Given the description of an element on the screen output the (x, y) to click on. 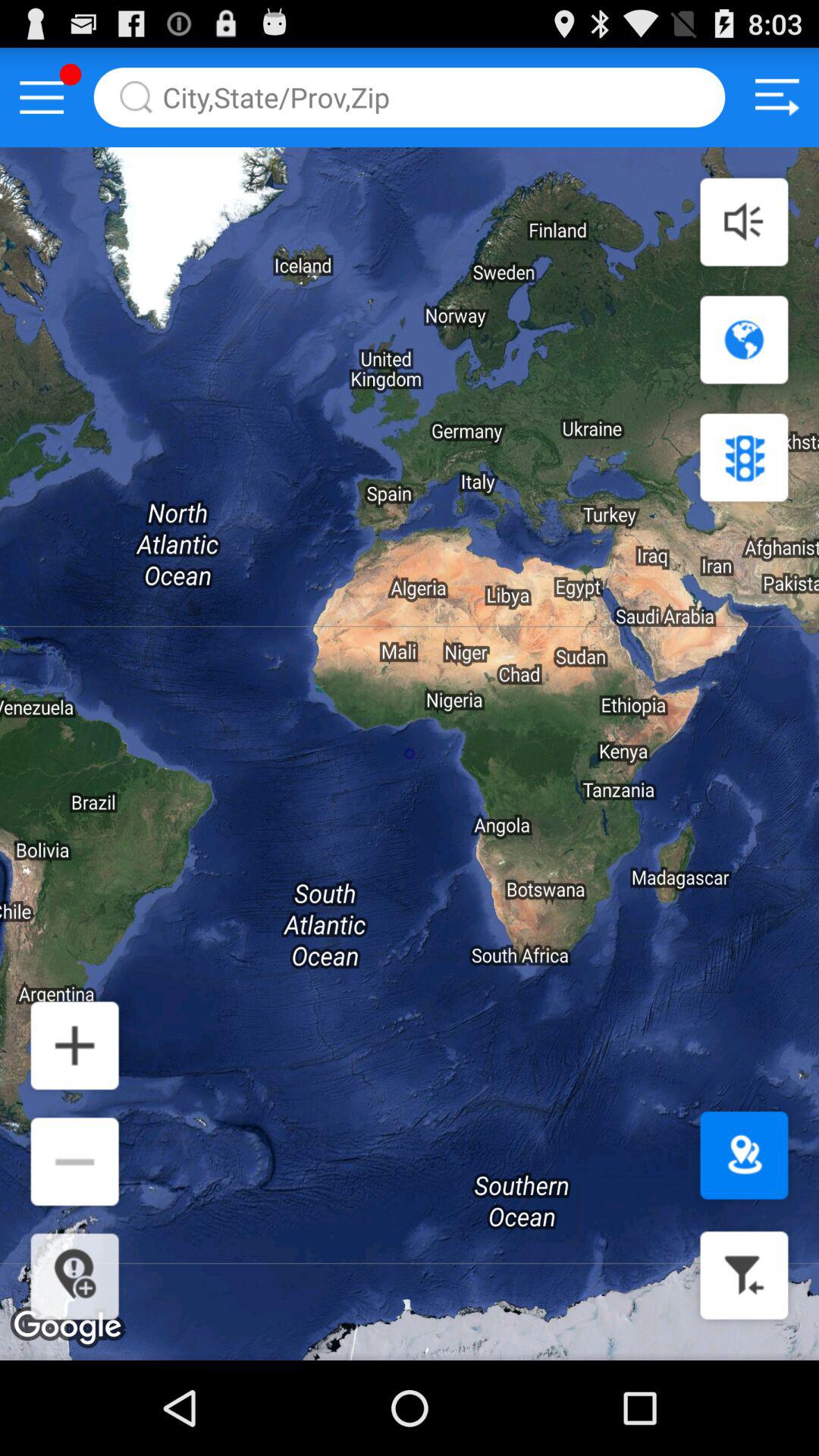
toggle add option (74, 1045)
